Given the description of an element on the screen output the (x, y) to click on. 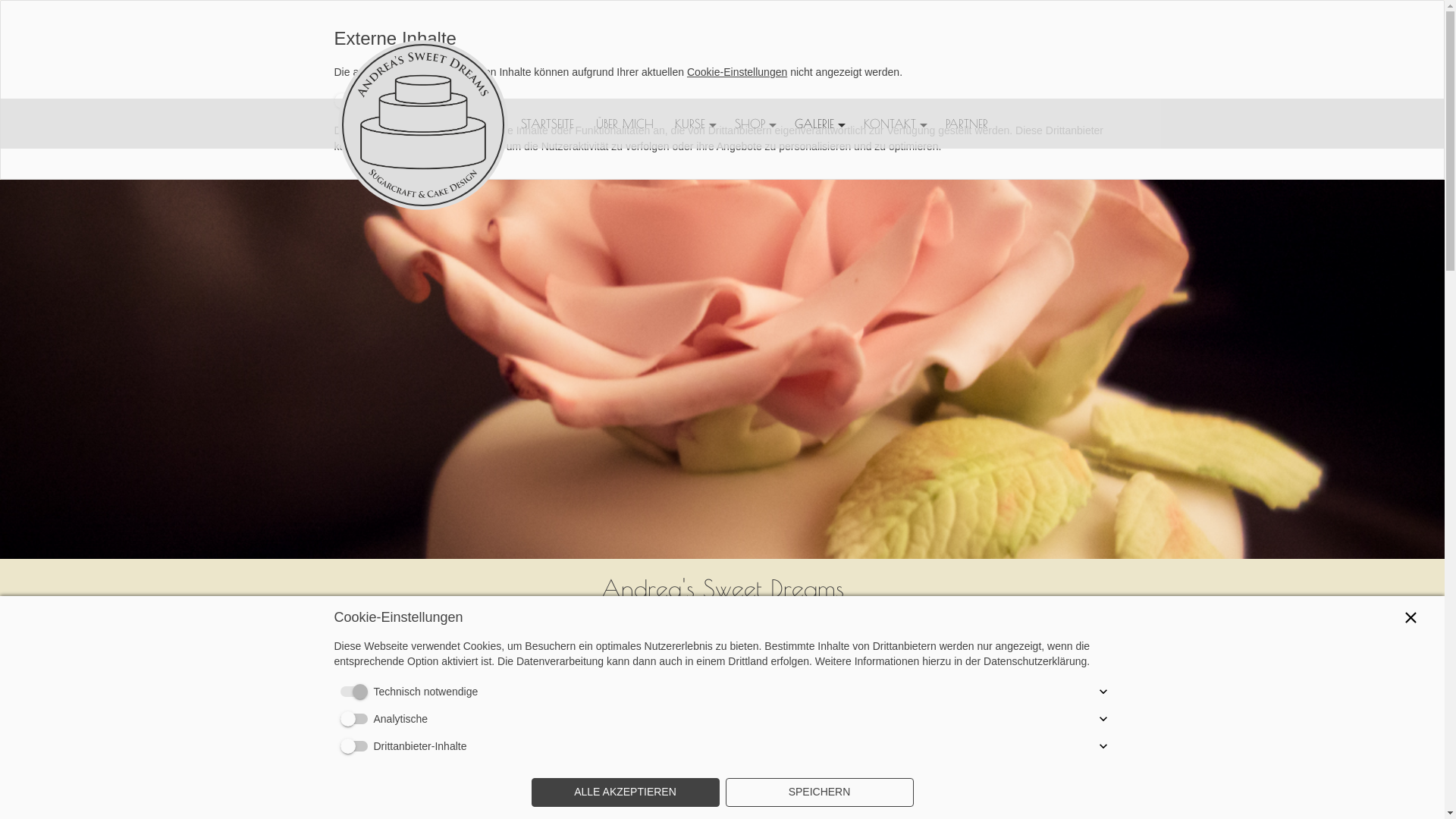
ALLE AKZEPTIEREN Element type: text (624, 792)
GALERIE Element type: text (818, 123)
STARTSEITE Element type: text (546, 123)
PARTNER Element type: text (966, 123)
KONTAKT Element type: text (893, 123)
SHOP Element type: text (754, 123)
Cookie-Einstellungen Element type: text (737, 71)
KURSE Element type: text (694, 123)
SPEICHERN Element type: text (818, 792)
